Given the description of an element on the screen output the (x, y) to click on. 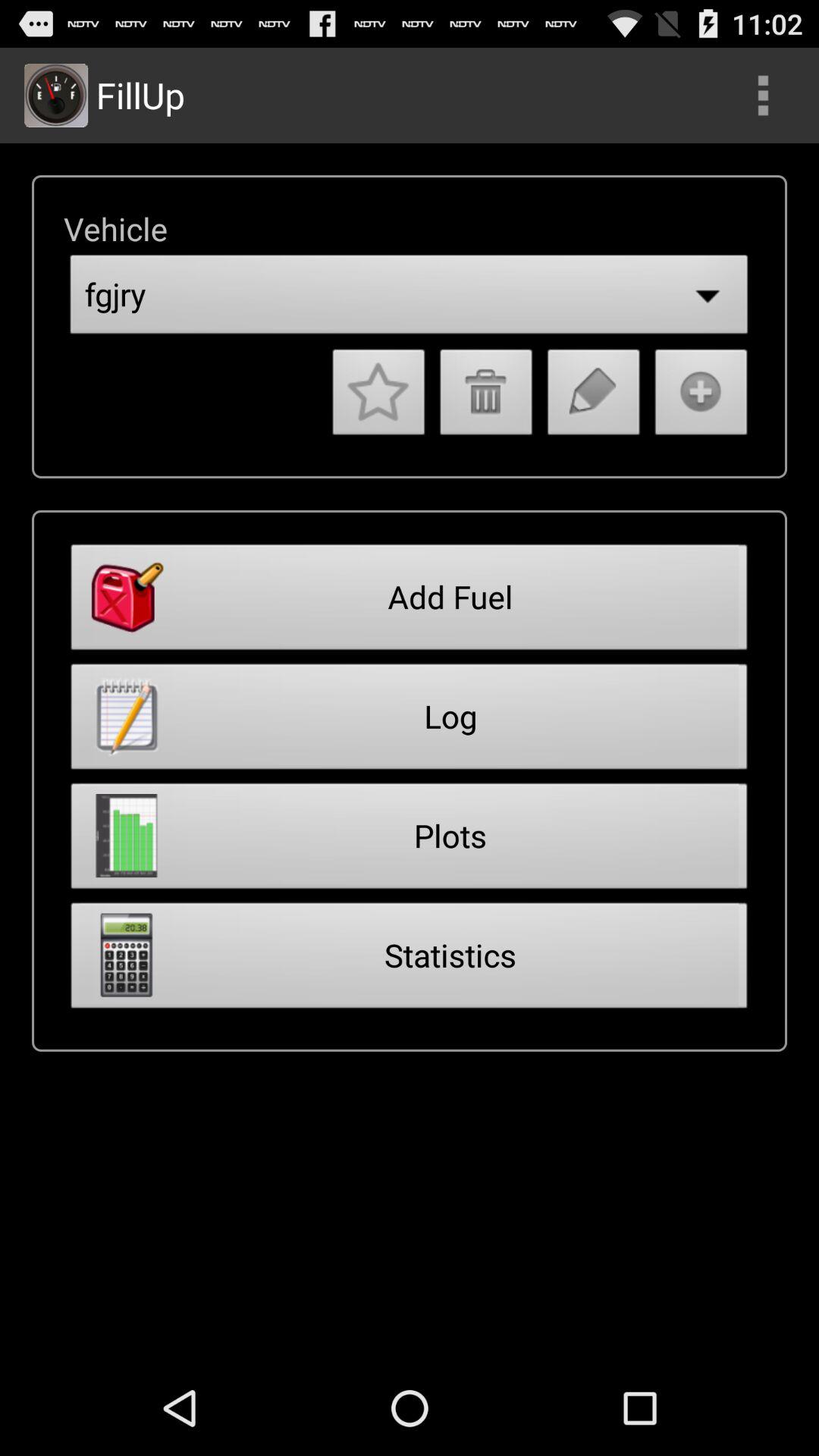
go to search (763, 95)
